Given the description of an element on the screen output the (x, y) to click on. 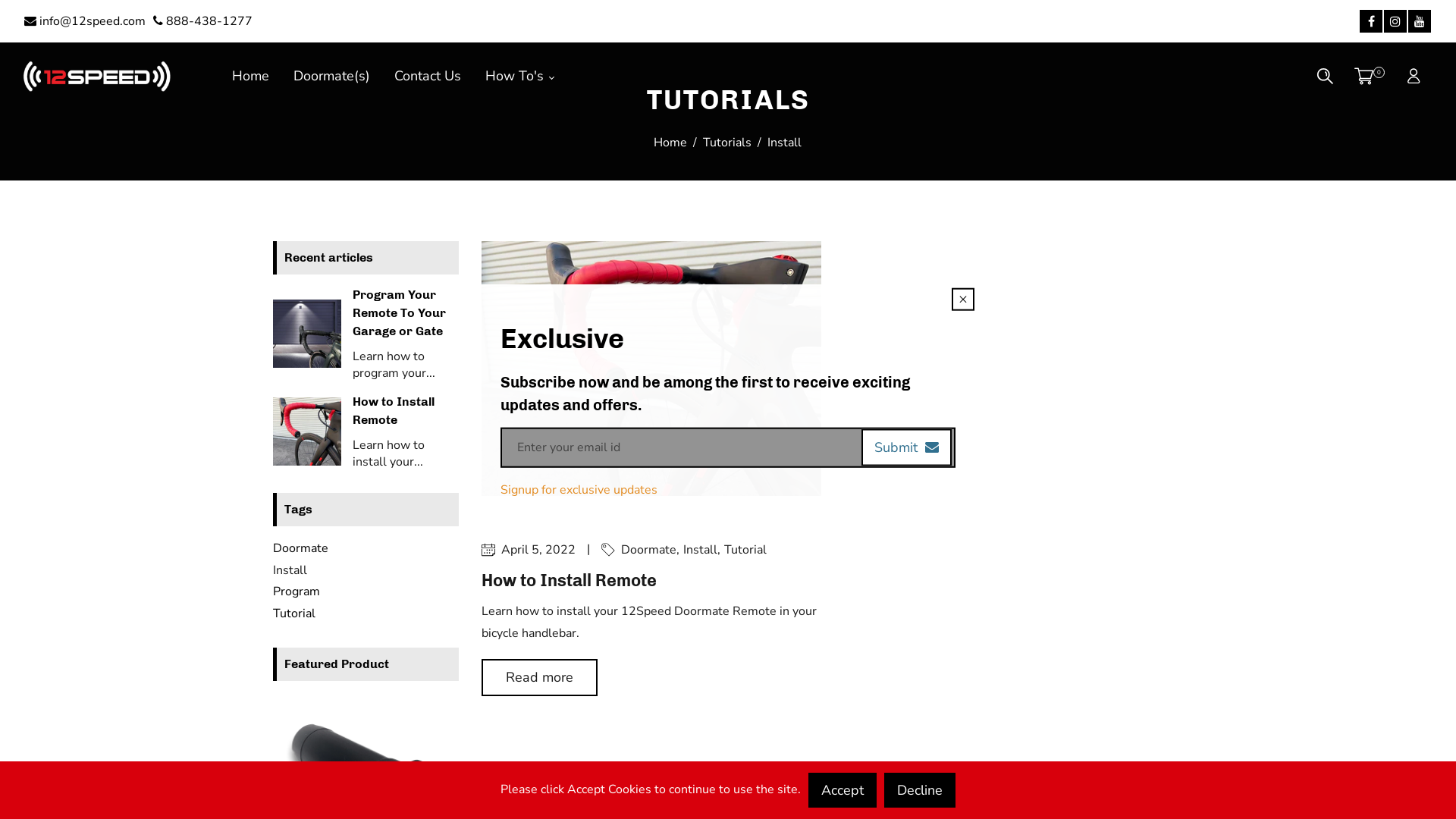
YouTube Element type: text (1419, 20)
Instagram Element type: text (1394, 20)
Program Your Remote To Your Garage or Gate Element type: text (398, 312)
Home Element type: text (670, 142)
How to Install Remote Element type: text (393, 410)
Facebook Element type: text (1370, 20)
Your Cart
0 Element type: text (1369, 75)
Read more Element type: text (539, 676)
Search Element type: text (1324, 75)
Decline Element type: text (919, 789)
Contact Us Element type: text (427, 75)
Doormate Element type: text (652, 549)
Sign In Element type: text (1413, 75)
Submit Element type: text (906, 447)
How To's Element type: text (518, 75)
Doormate(s) Element type: text (331, 75)
Accept Element type: text (842, 789)
Home Element type: text (250, 75)
Tutorial Element type: text (294, 613)
How to Install Remote Element type: text (568, 580)
Program Element type: text (296, 591)
Doormate Element type: text (300, 547)
Tutorial Element type: text (745, 549)
Tutorials Element type: text (727, 142)
888-438-1277 Element type: text (202, 20)
info@12speed.com Element type: text (84, 20)
Install Element type: text (703, 549)
